Given the description of an element on the screen output the (x, y) to click on. 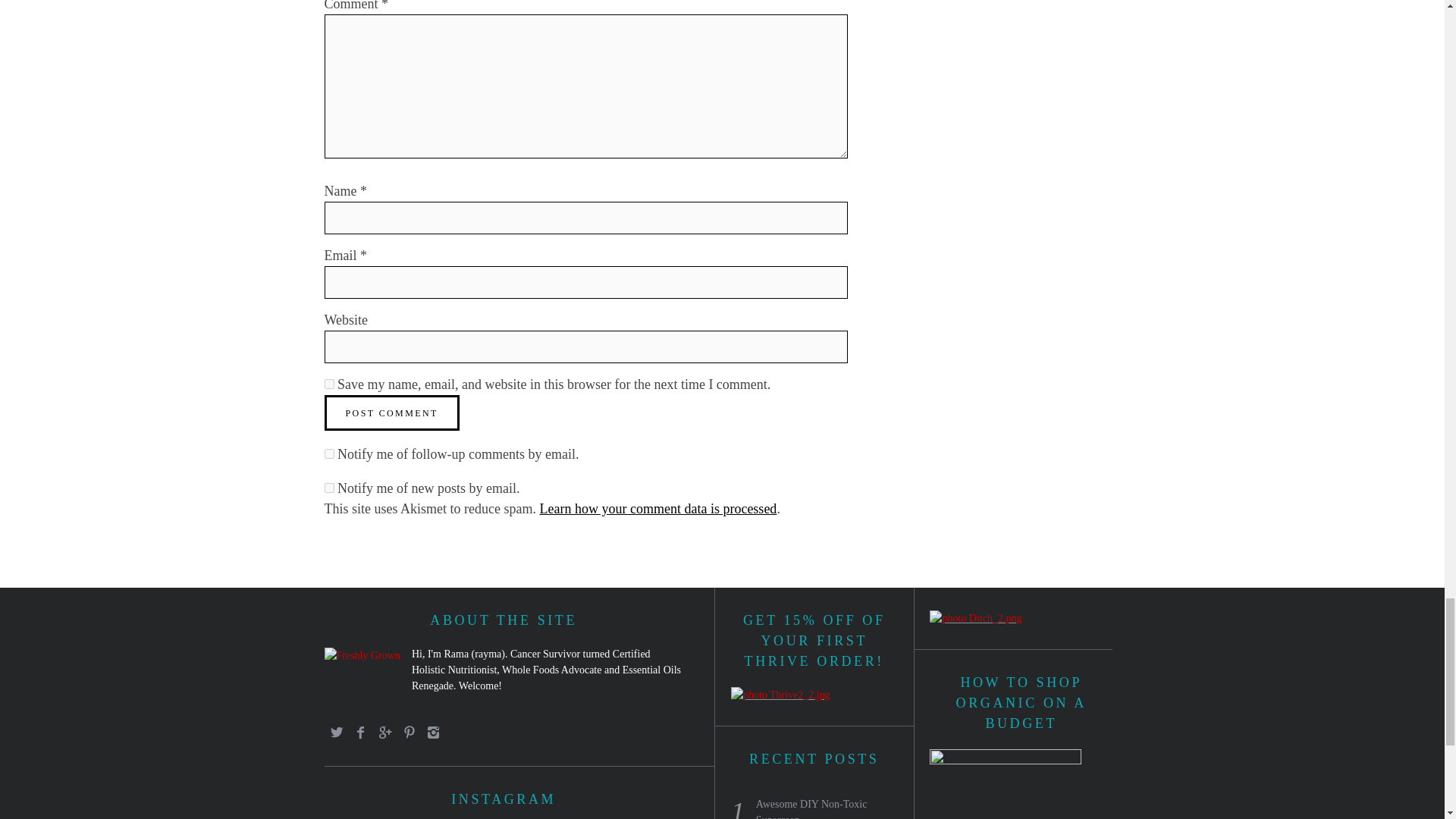
Post Comment (392, 412)
subscribe (329, 488)
yes (329, 384)
subscribe (329, 453)
